Given the description of an element on the screen output the (x, y) to click on. 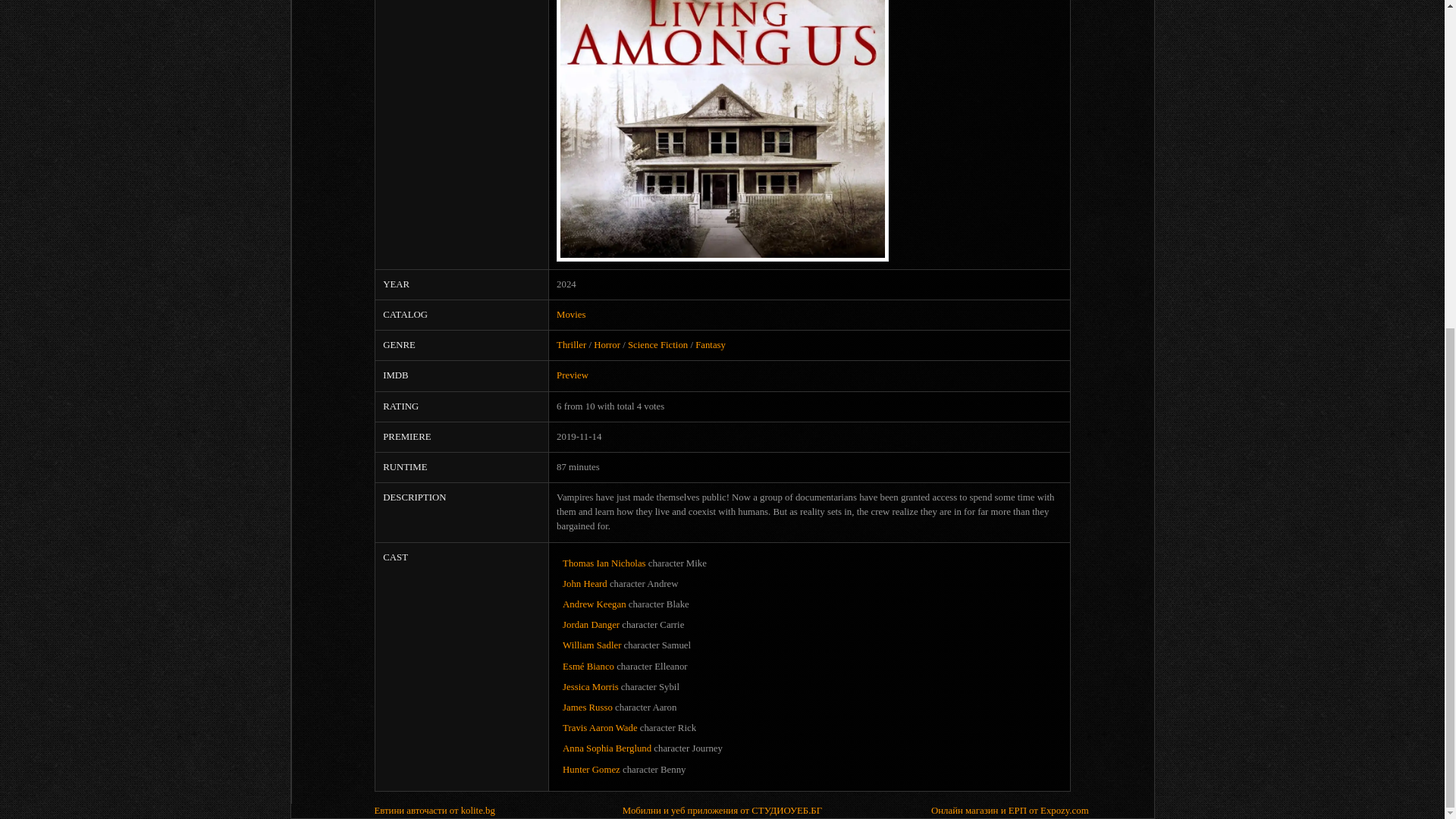
Thriller (571, 344)
Jessica Morris (590, 686)
Hunter Gomez (591, 769)
James Russo (587, 706)
Travis Aaron Wade (599, 727)
William Sadler (591, 644)
Anna Sophia Berglund (606, 747)
Jordan Danger (591, 624)
Horror (607, 344)
Thomas Ian Nicholas (603, 562)
Preview (572, 375)
Fantasy (710, 344)
Science Fiction (657, 344)
Movies (570, 314)
John Heard (584, 583)
